Given the description of an element on the screen output the (x, y) to click on. 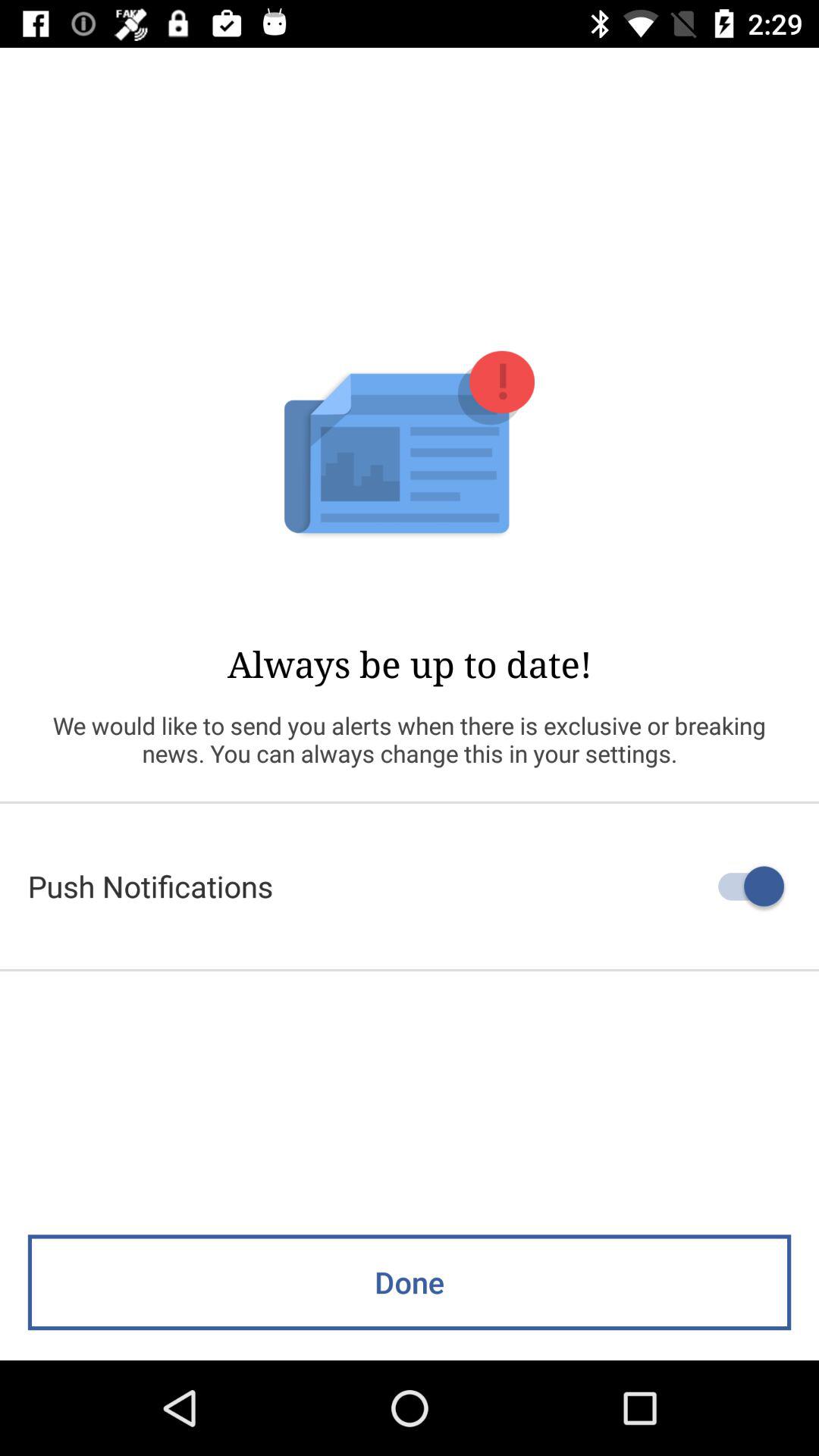
turn on the done (409, 1282)
